Given the description of an element on the screen output the (x, y) to click on. 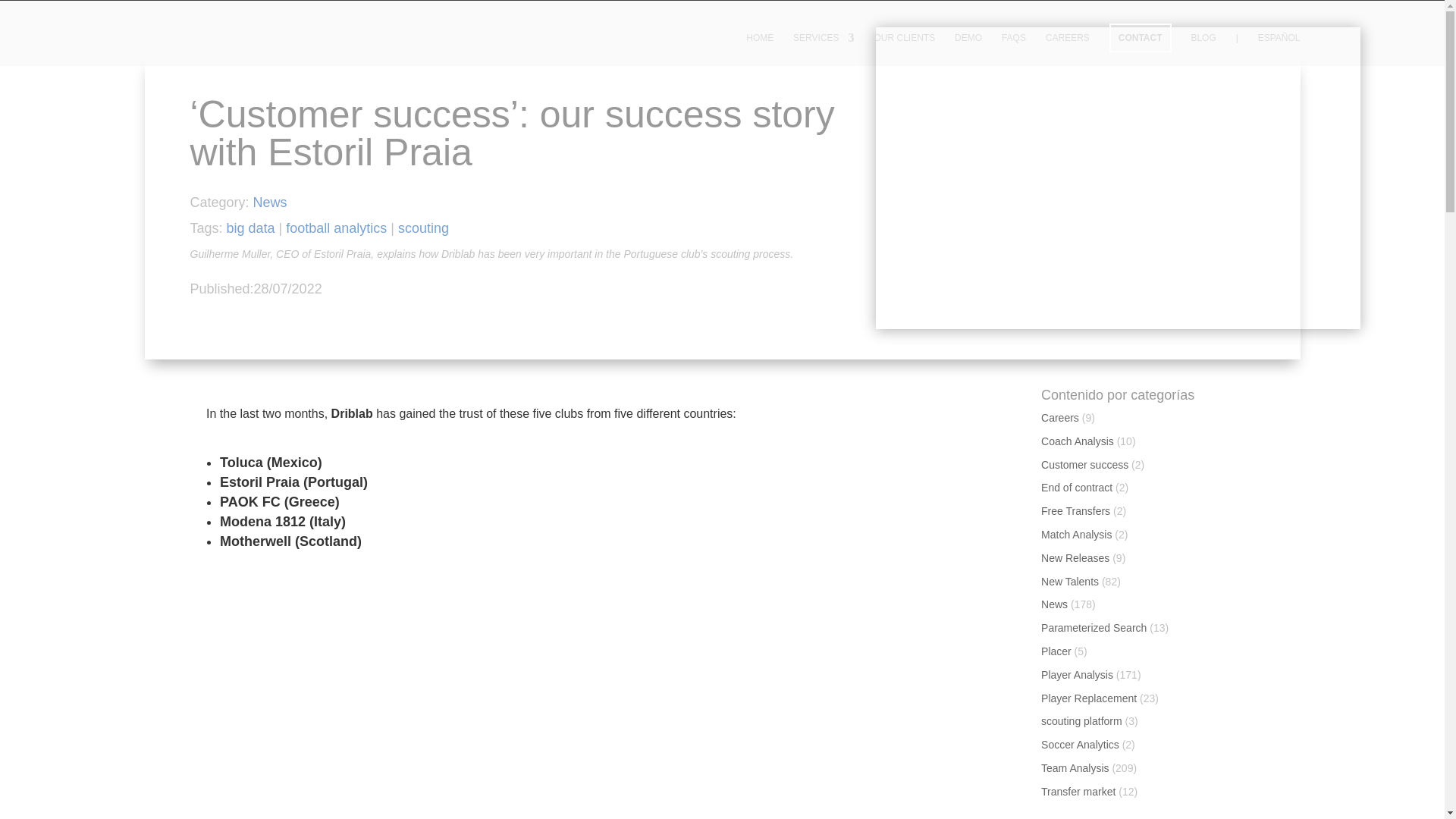
Free Transfers (1075, 510)
News (1054, 604)
scouting (422, 227)
Careers (1059, 417)
OUR CLIENTS (903, 49)
Coach Analysis (1077, 440)
CONTACT (1140, 37)
Match Analysis (1076, 534)
Placer (1056, 651)
CAREERS (1067, 49)
New Releases (1075, 558)
Parameterized Search (1094, 627)
SERVICES (823, 49)
End of contract (1076, 487)
News (269, 201)
